Given the description of an element on the screen output the (x, y) to click on. 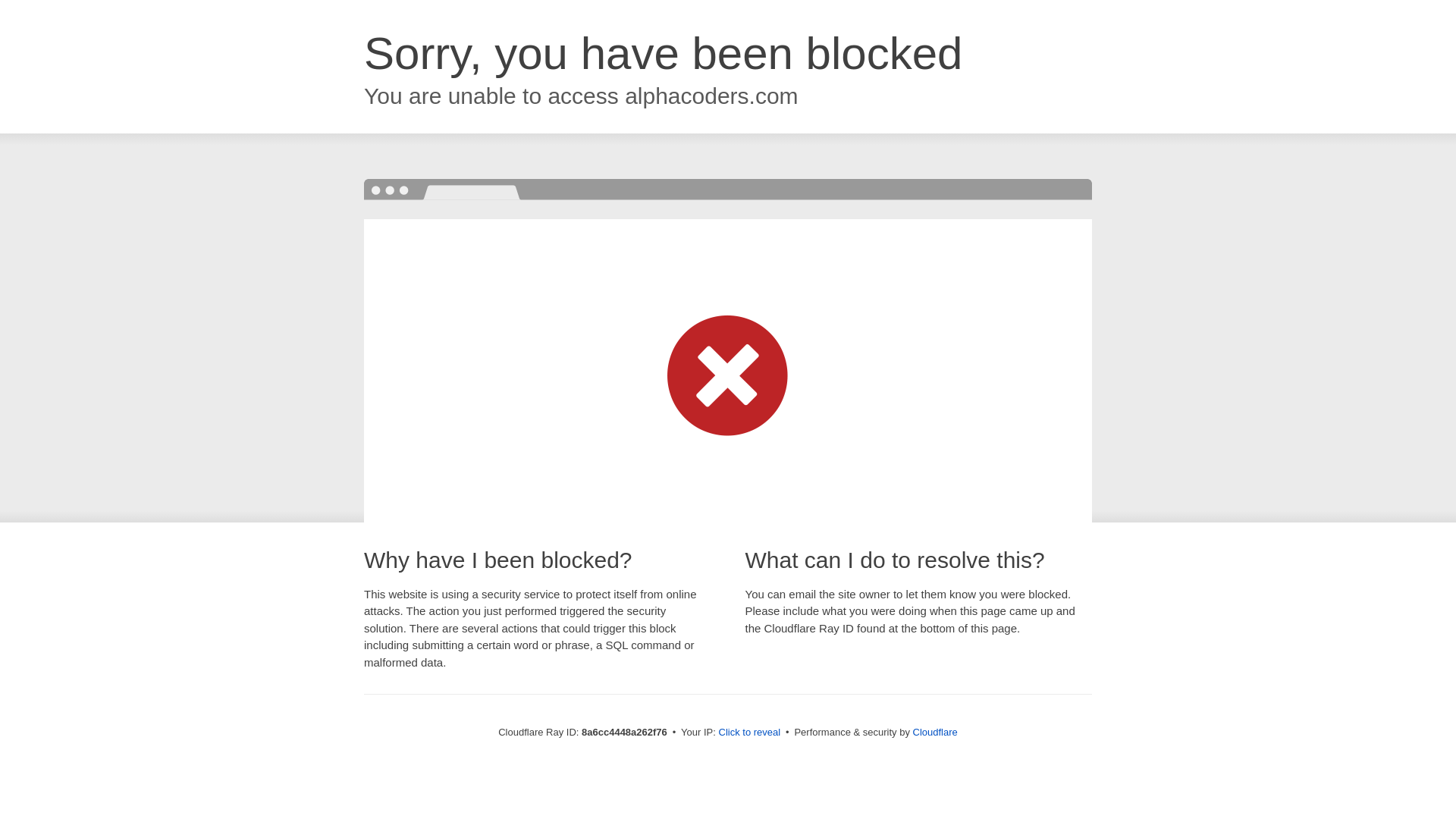
Cloudflare (935, 731)
Click to reveal (749, 732)
